Given the description of an element on the screen output the (x, y) to click on. 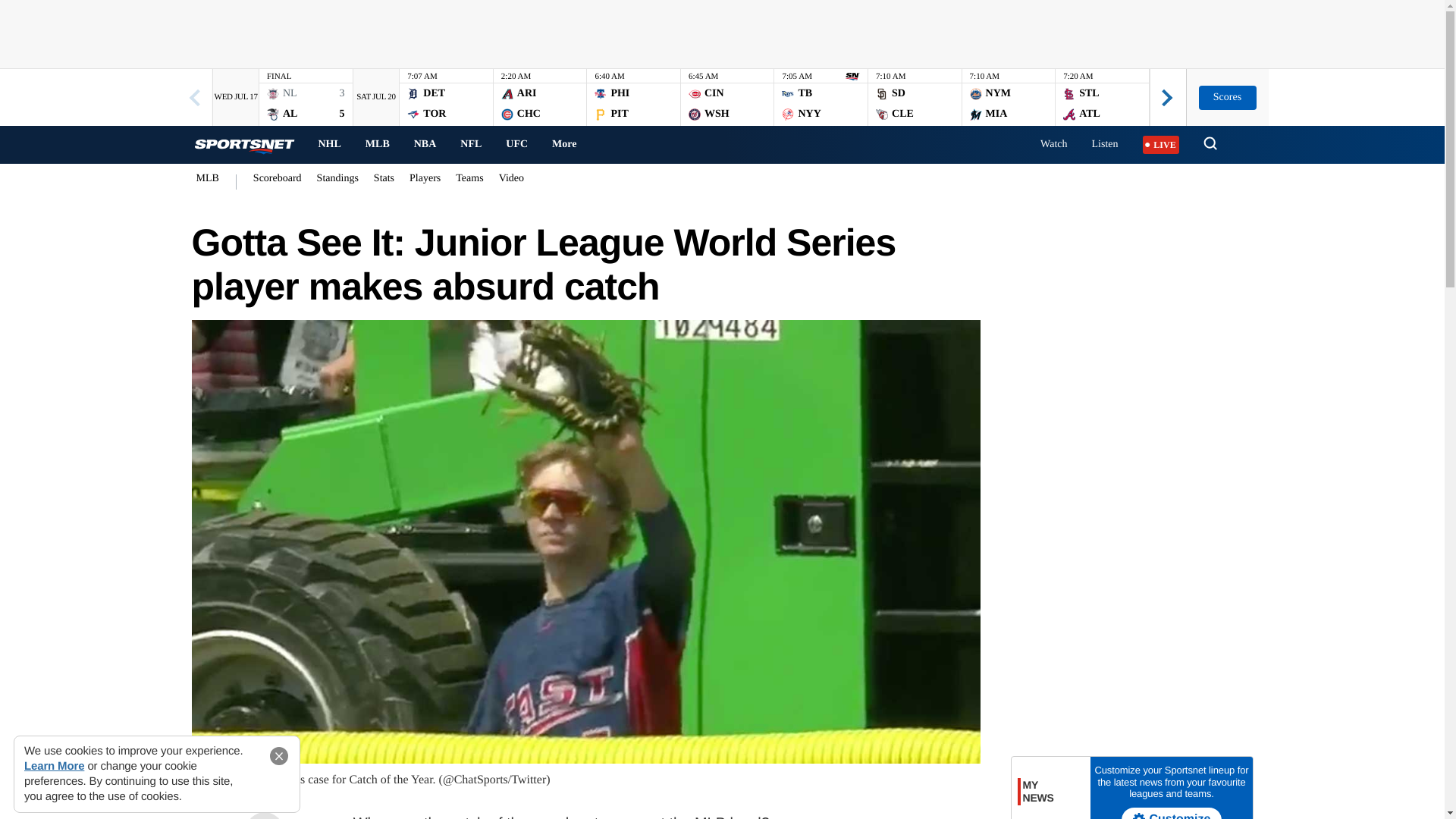
Scores (1226, 96)
NHL (727, 181)
Learn More (328, 144)
